Given the description of an element on the screen output the (x, y) to click on. 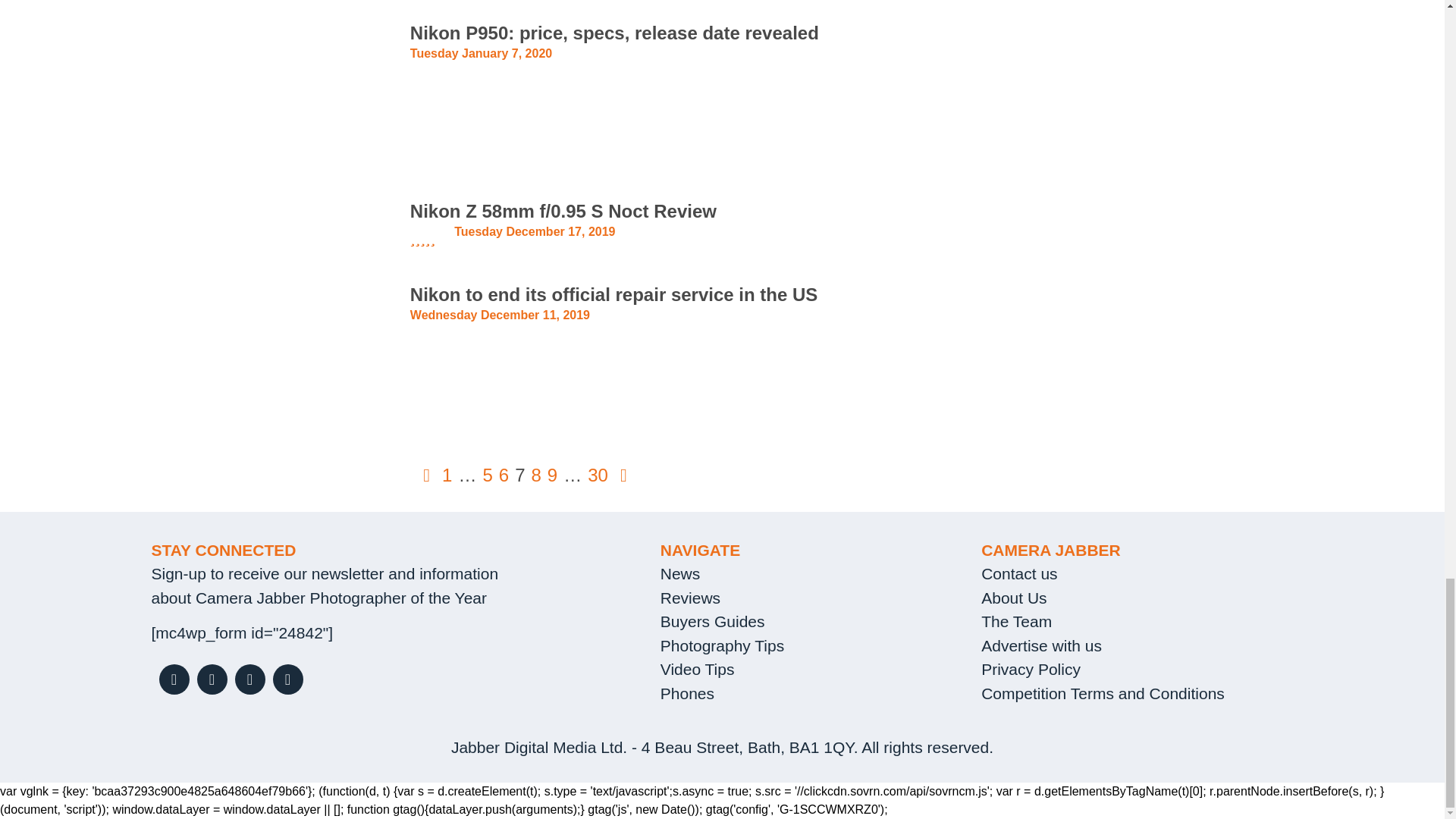
Nikon P950: price, specs, release date revealed (614, 32)
Nikon P950: price, specs, release date revealed (614, 32)
Nikon P950: price, specs, release date revealed (269, 88)
